Given the description of an element on the screen output the (x, y) to click on. 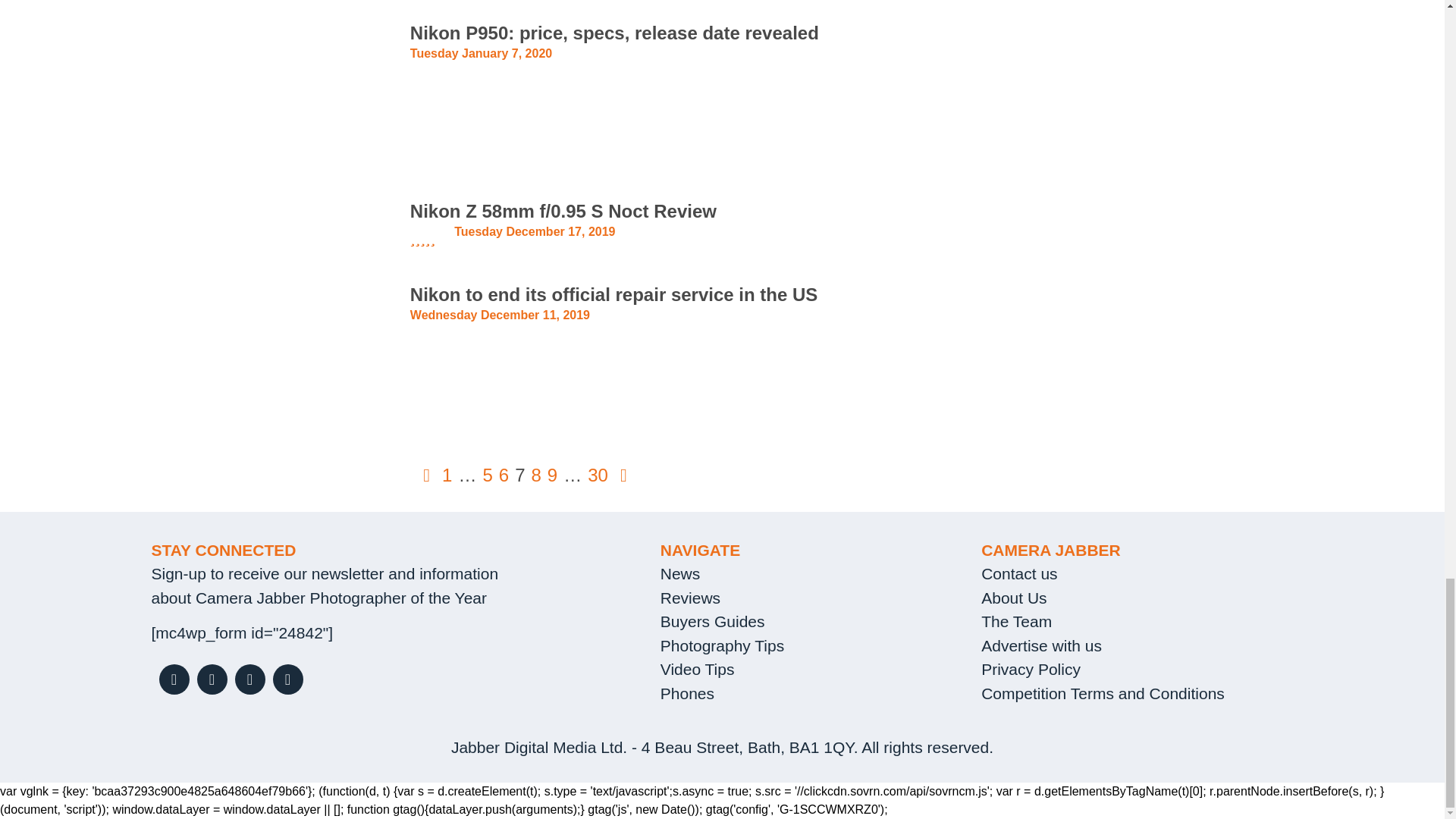
Nikon P950: price, specs, release date revealed (614, 32)
Nikon P950: price, specs, release date revealed (614, 32)
Nikon P950: price, specs, release date revealed (269, 88)
